Given the description of an element on the screen output the (x, y) to click on. 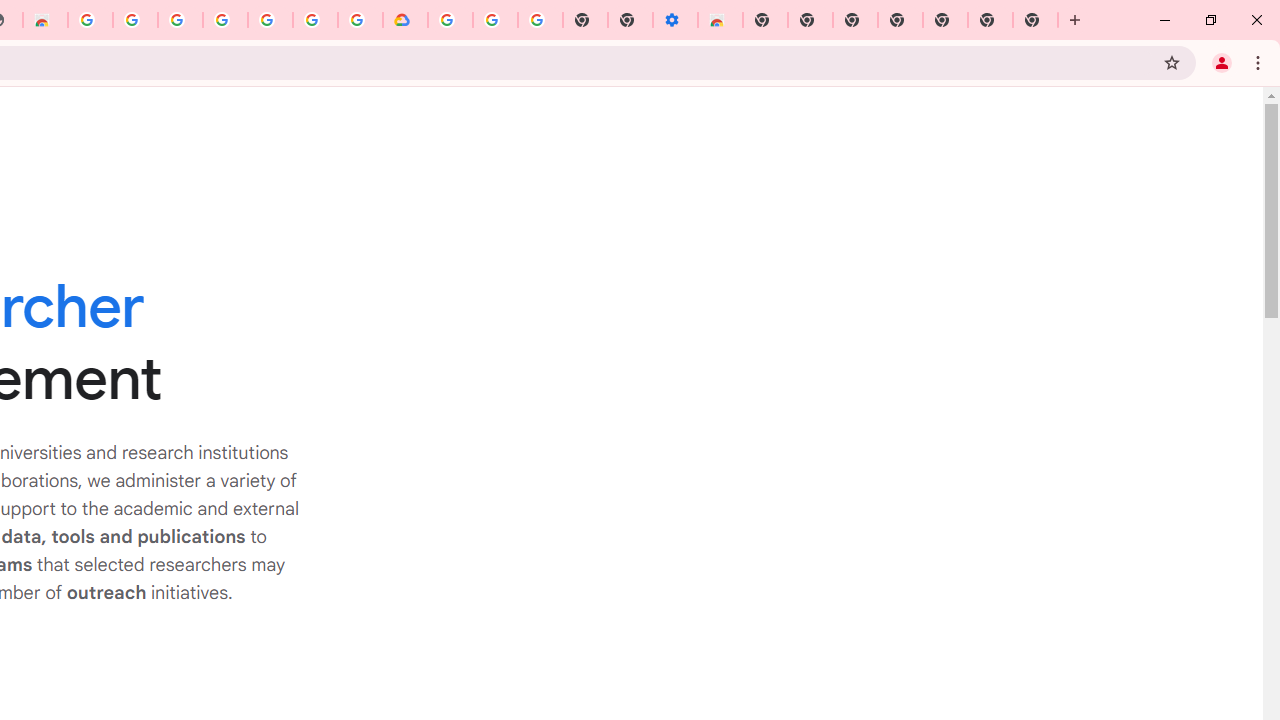
Sign in - Google Accounts (315, 20)
Ad Settings (134, 20)
Sign in - Google Accounts (180, 20)
Chrome Web Store - Household (45, 20)
New Tab (944, 20)
